Given the description of an element on the screen output the (x, y) to click on. 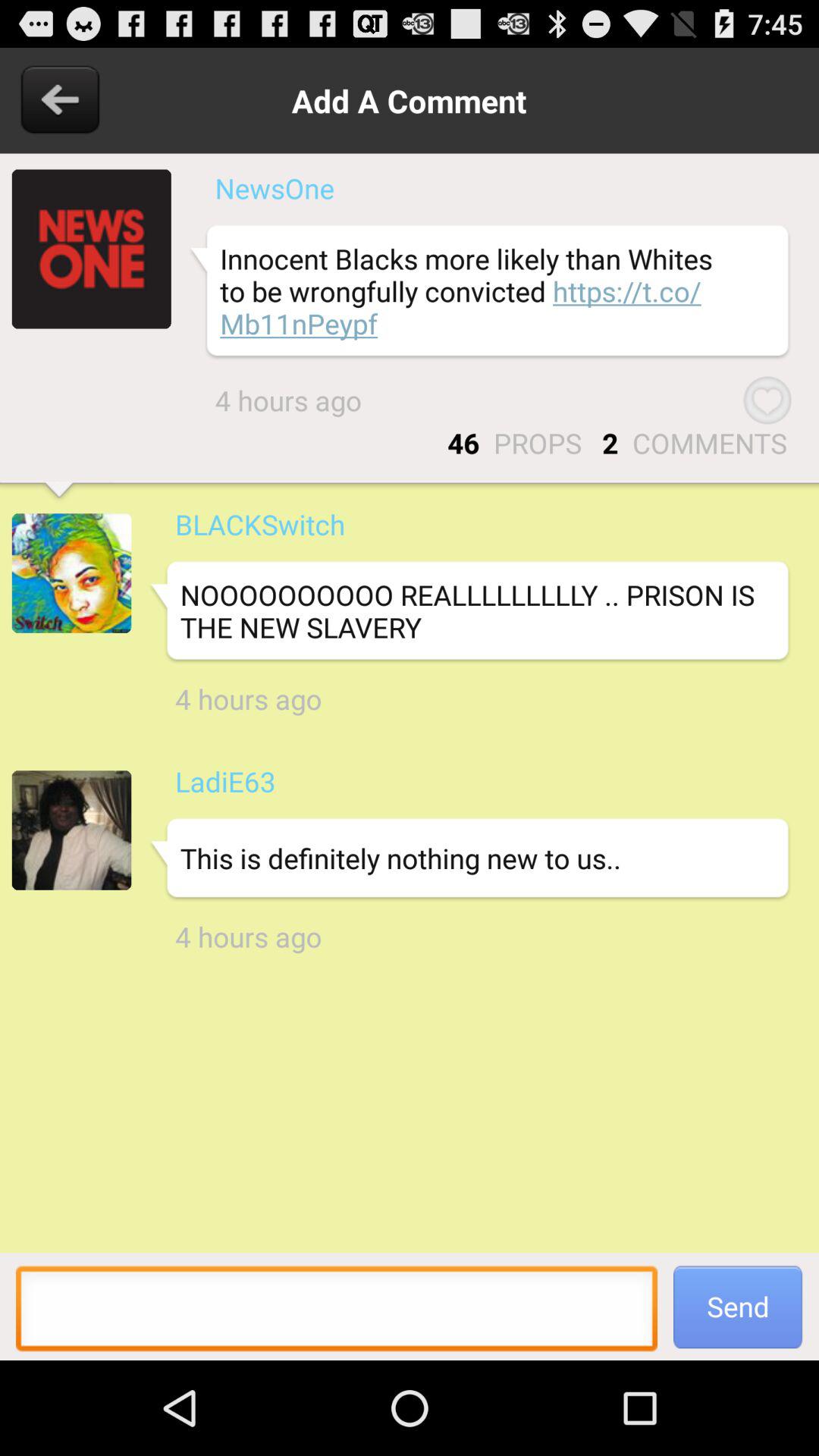
go to profile (91, 248)
